Given the description of an element on the screen output the (x, y) to click on. 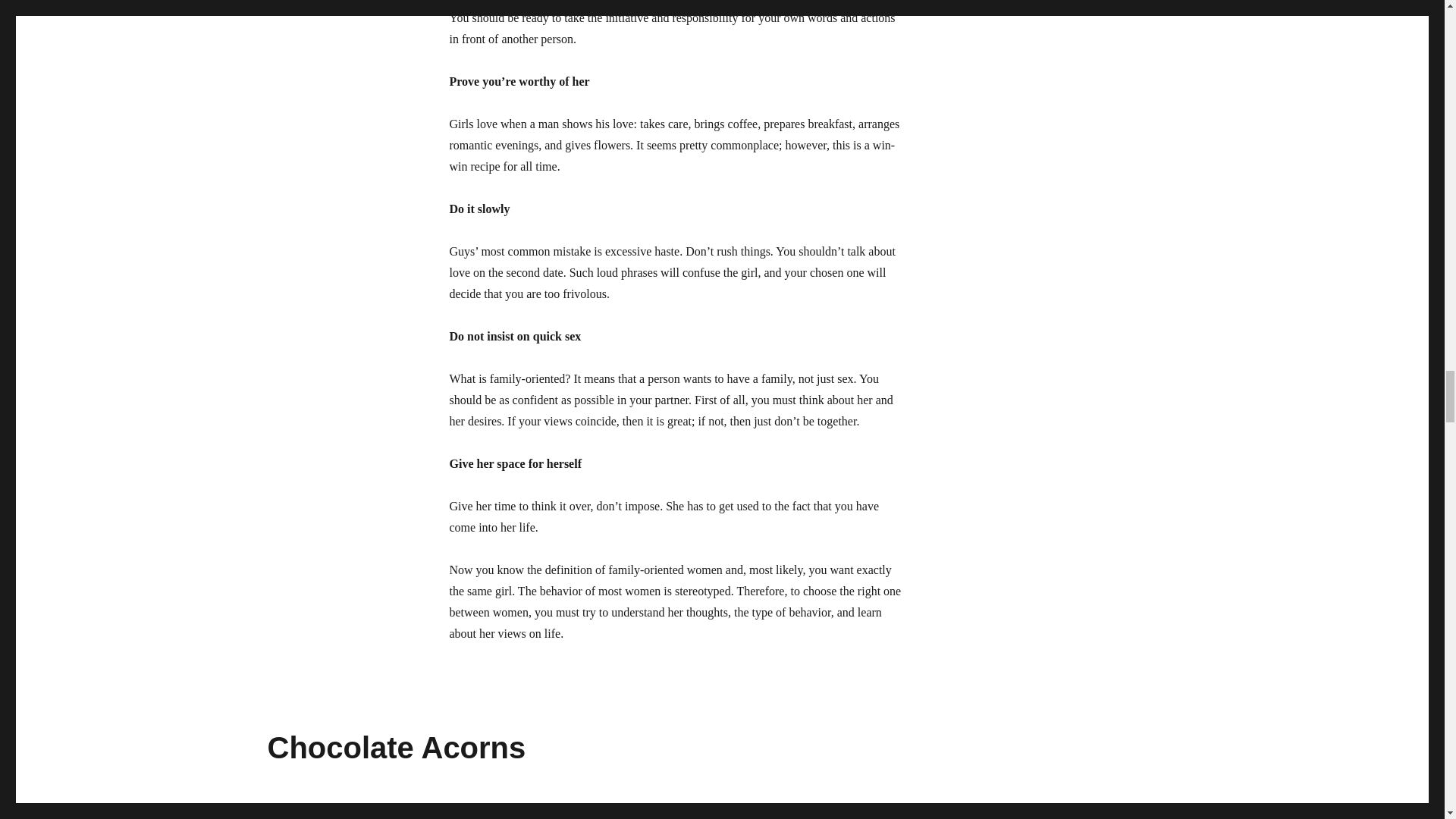
17.11.2012 (290, 807)
Chocolate Acorns (395, 747)
